Given the description of an element on the screen output the (x, y) to click on. 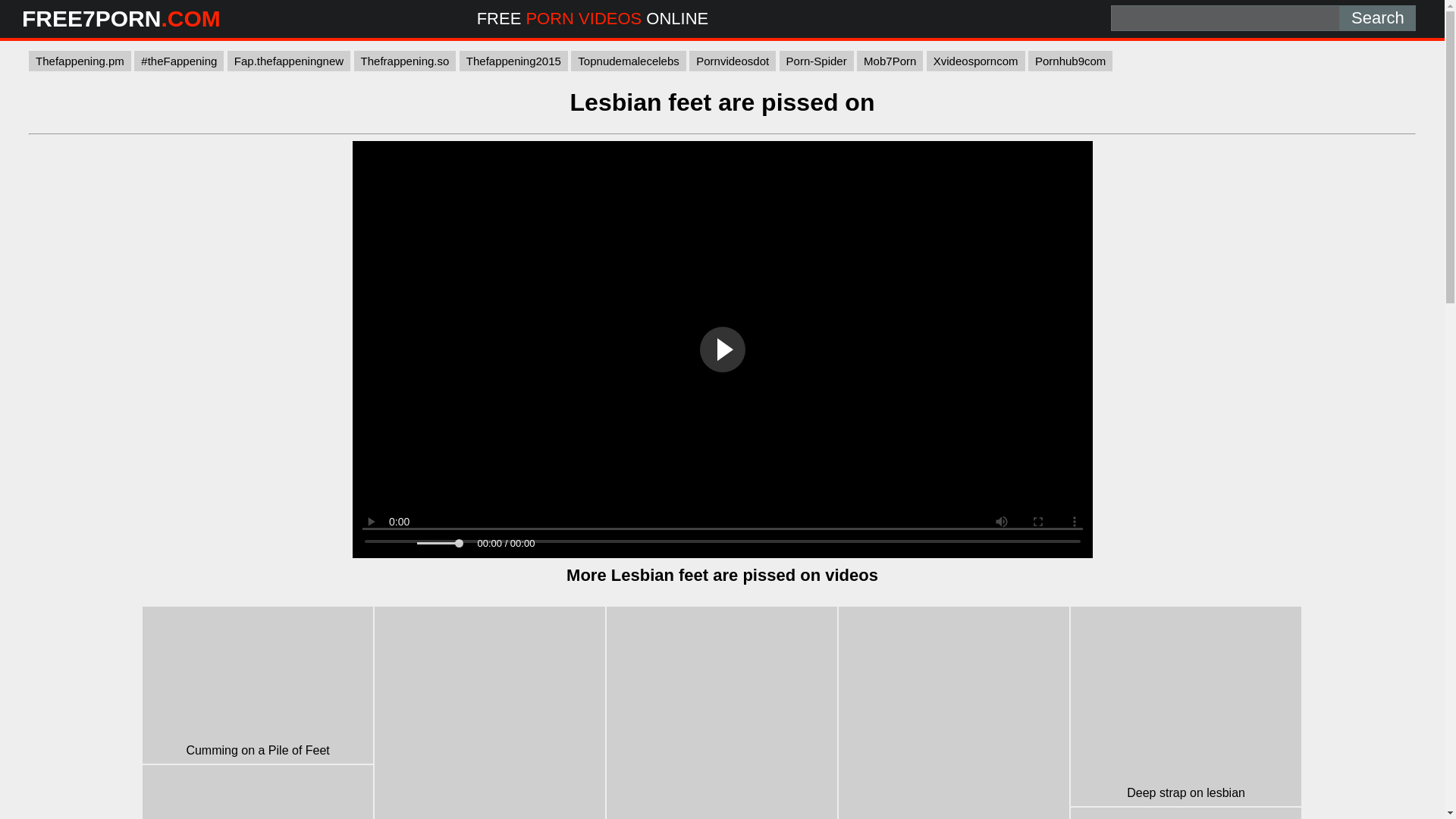
Thefrappening.so (405, 60)
Fap.thefappeningnew (288, 60)
Thefappening2015 (513, 60)
Pornhub9com (1069, 60)
Xvideosporncom (975, 60)
Topnudemalecelebs (627, 60)
Pornvideosdot (732, 60)
Mob7Porn (890, 60)
Search (1377, 17)
Porn-Spider (815, 60)
